Given the description of an element on the screen output the (x, y) to click on. 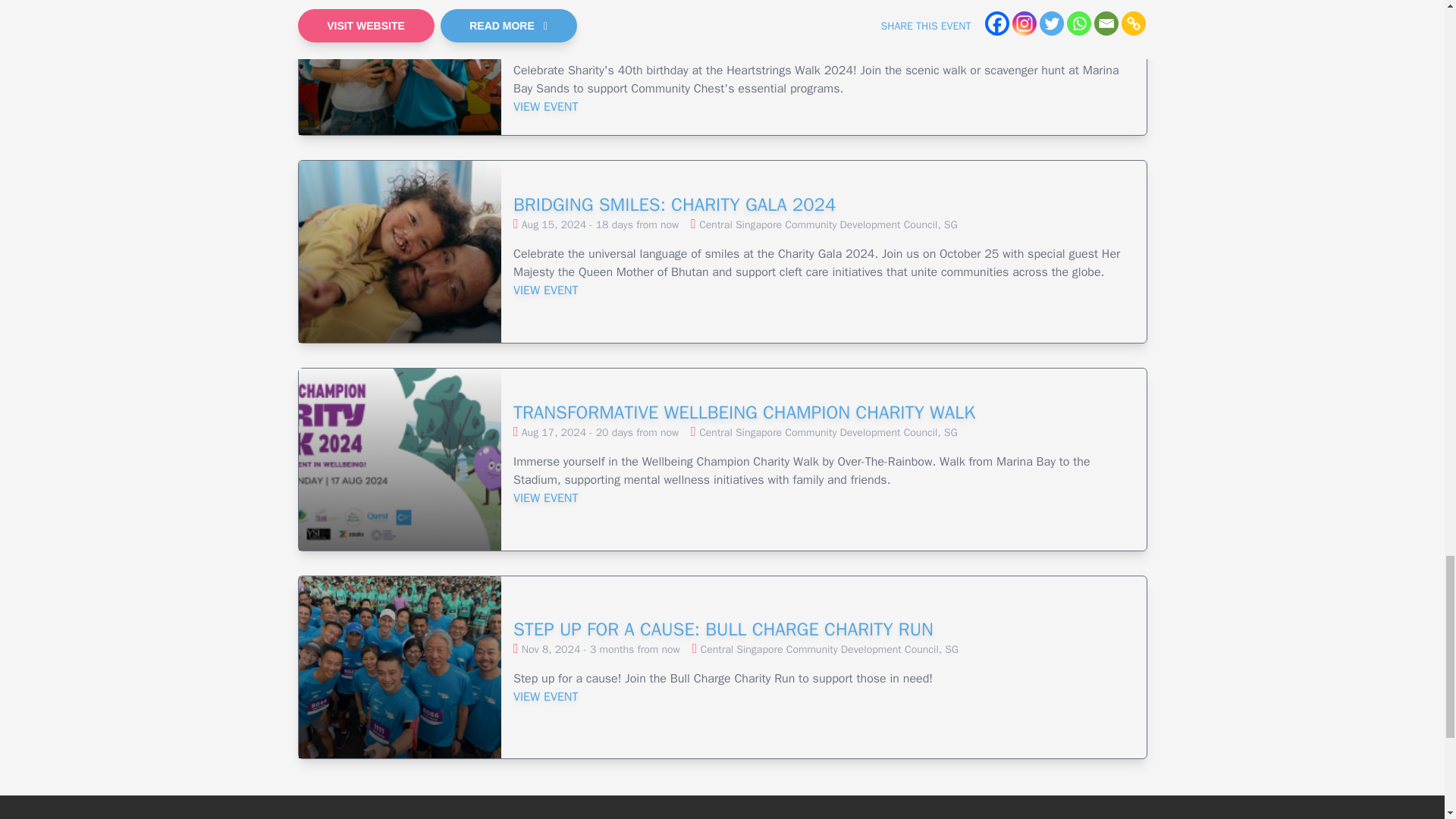
Aug 24, 2024 10:15am China Standard Time (600, 41)
Aug 15, 2024 7:15pm China Standard Time (600, 224)
